Given the description of an element on the screen output the (x, y) to click on. 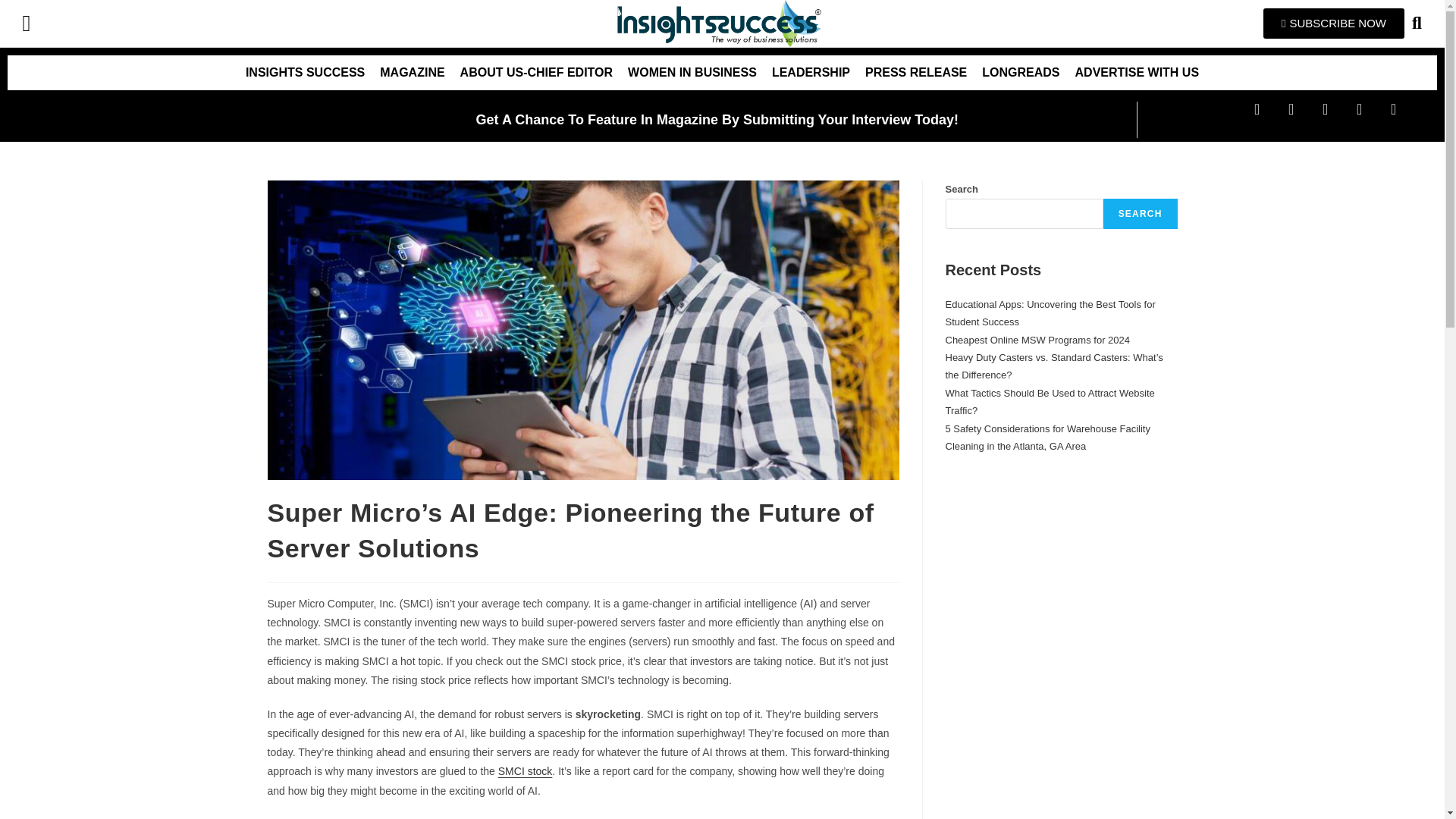
SUBSCRIBE NOW (1334, 23)
SEARCH (1140, 214)
ADVERTISE WITH US (1137, 72)
WOMEN IN BUSINESS (692, 72)
LONGREADS (1020, 72)
LEADERSHIP (810, 72)
MAGAZINE (411, 72)
INSIGHTS SUCCESS (305, 72)
What Tactics Should Be Used to Attract Website Traffic? (1049, 401)
Cheapest Online MSW Programs for 2024 (1036, 339)
PRESS RELEASE (915, 72)
